Given the description of an element on the screen output the (x, y) to click on. 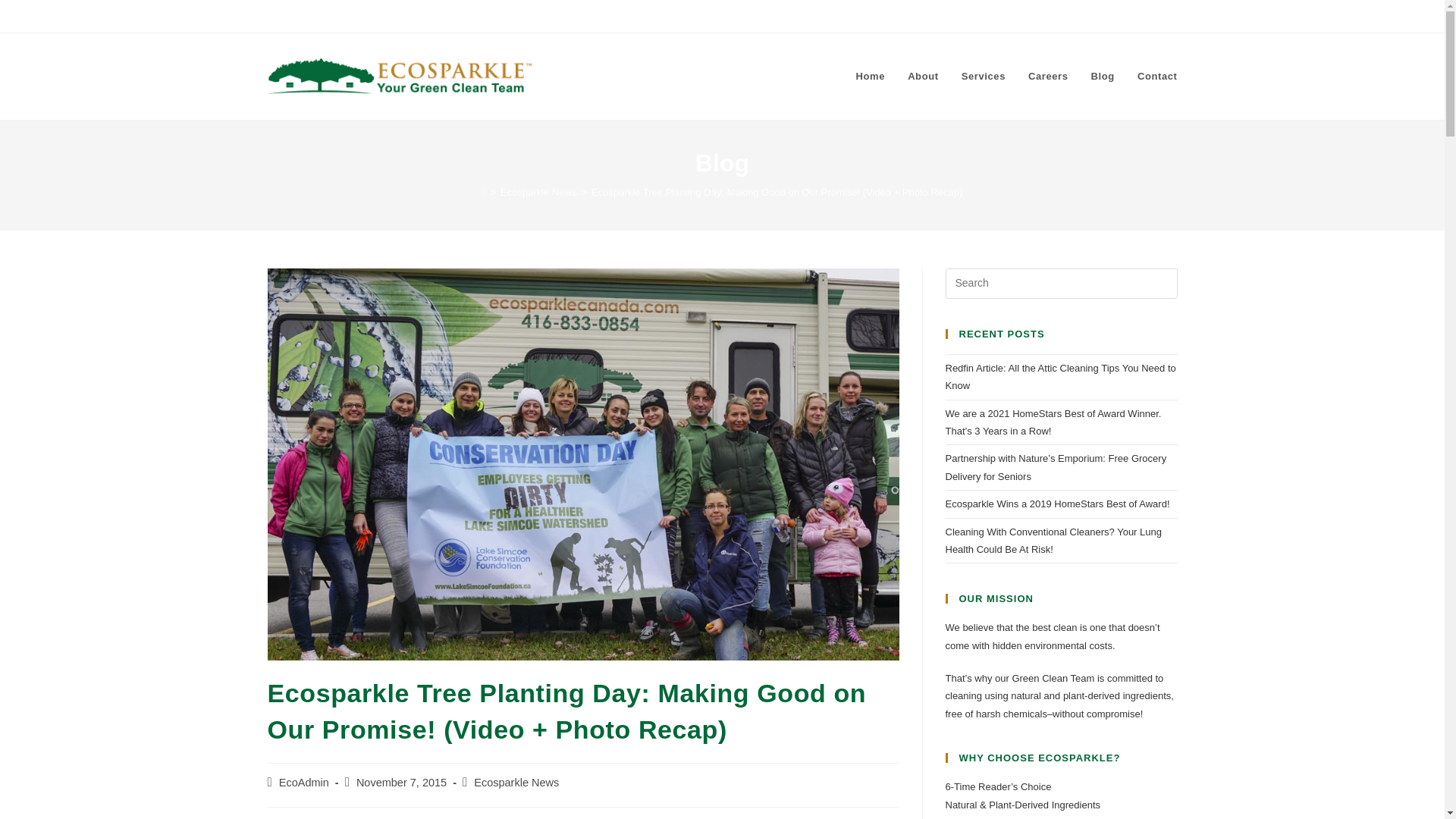
Contact (1157, 76)
Careers (1048, 76)
EcoAdmin (304, 782)
Ecosparkle News (516, 782)
Posts by EcoAdmin (304, 782)
Home (870, 76)
Prefer email or phone? Click HERE to Get Your FREE Estimate! (1010, 15)
Services (983, 76)
About (923, 76)
Ecosparkle News (538, 192)
